Given the description of an element on the screen output the (x, y) to click on. 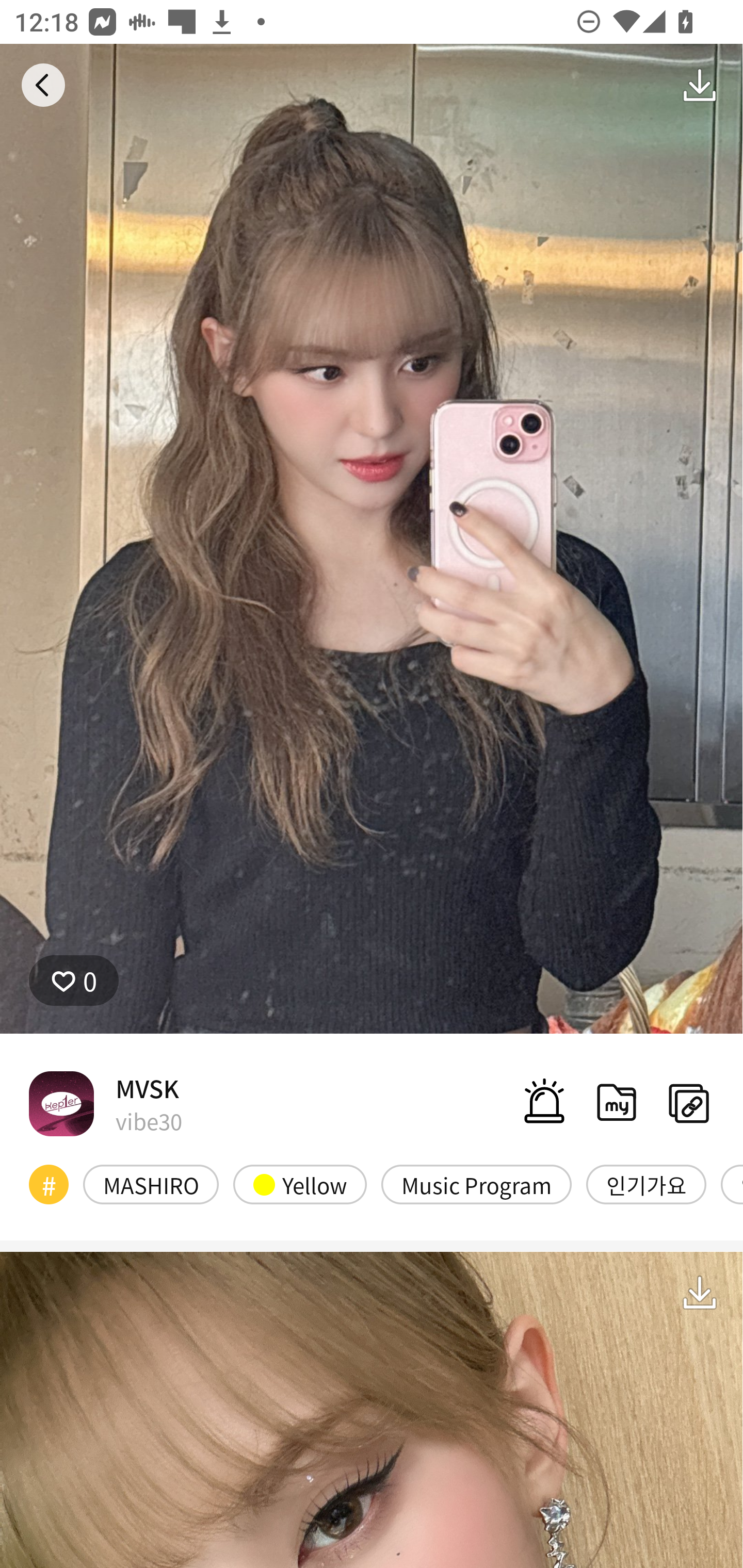
0 (73, 980)
MVSK vibe30 (105, 1102)
MASHIRO (150, 1184)
Yellow (300, 1184)
Music Program (476, 1184)
인기가요 (646, 1184)
